Given the description of an element on the screen output the (x, y) to click on. 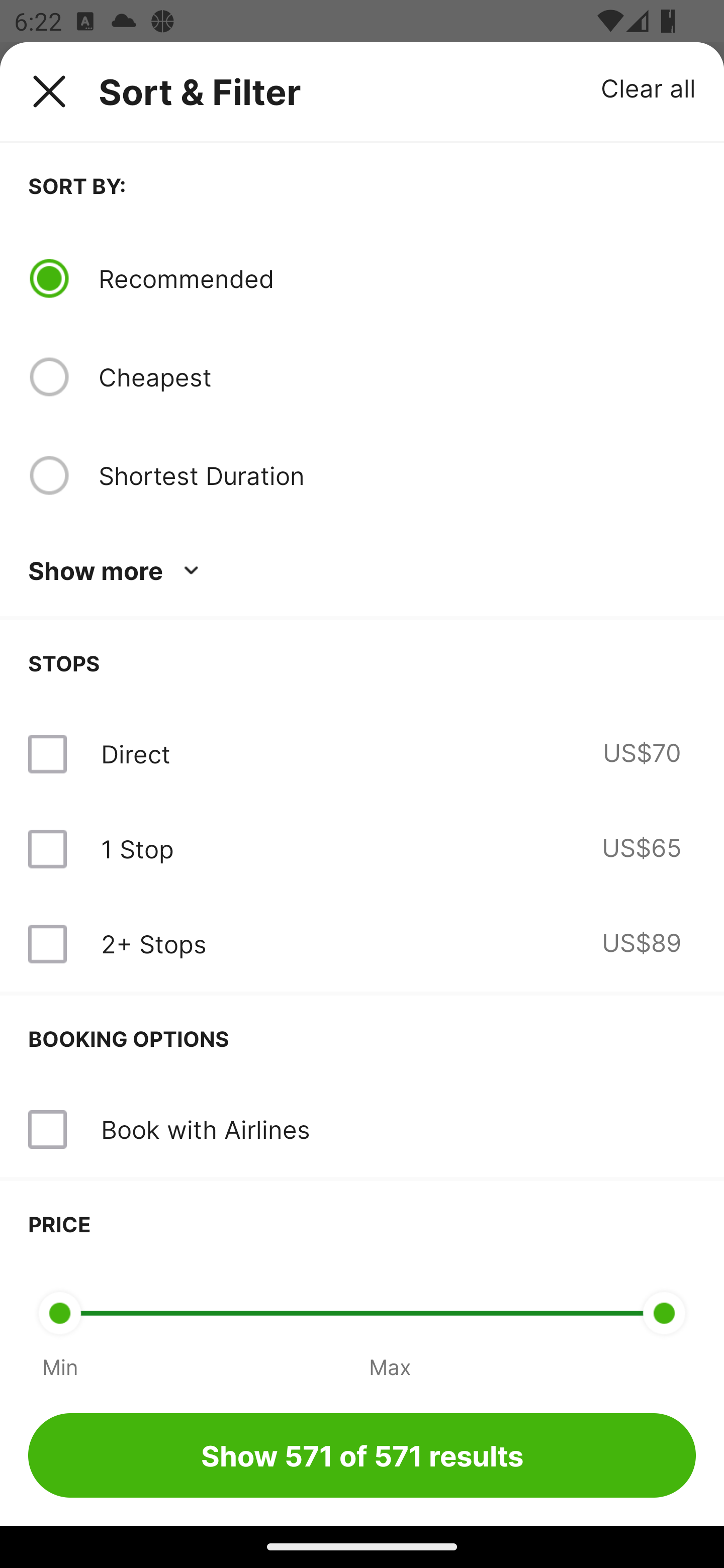
Clear all (648, 87)
Recommended  (396, 278)
Cheapest (396, 377)
Shortest Duration (396, 474)
Show more (116, 570)
Direct US$70 (362, 754)
Direct (135, 753)
1 Stop US$65 (362, 848)
1 Stop (136, 849)
2+ Stops US$89 (362, 943)
2+ Stops (153, 943)
Book with Airlines (362, 1129)
Book with Airlines (204, 1128)
Show 571 of 571 results (361, 1454)
